Given the description of an element on the screen output the (x, y) to click on. 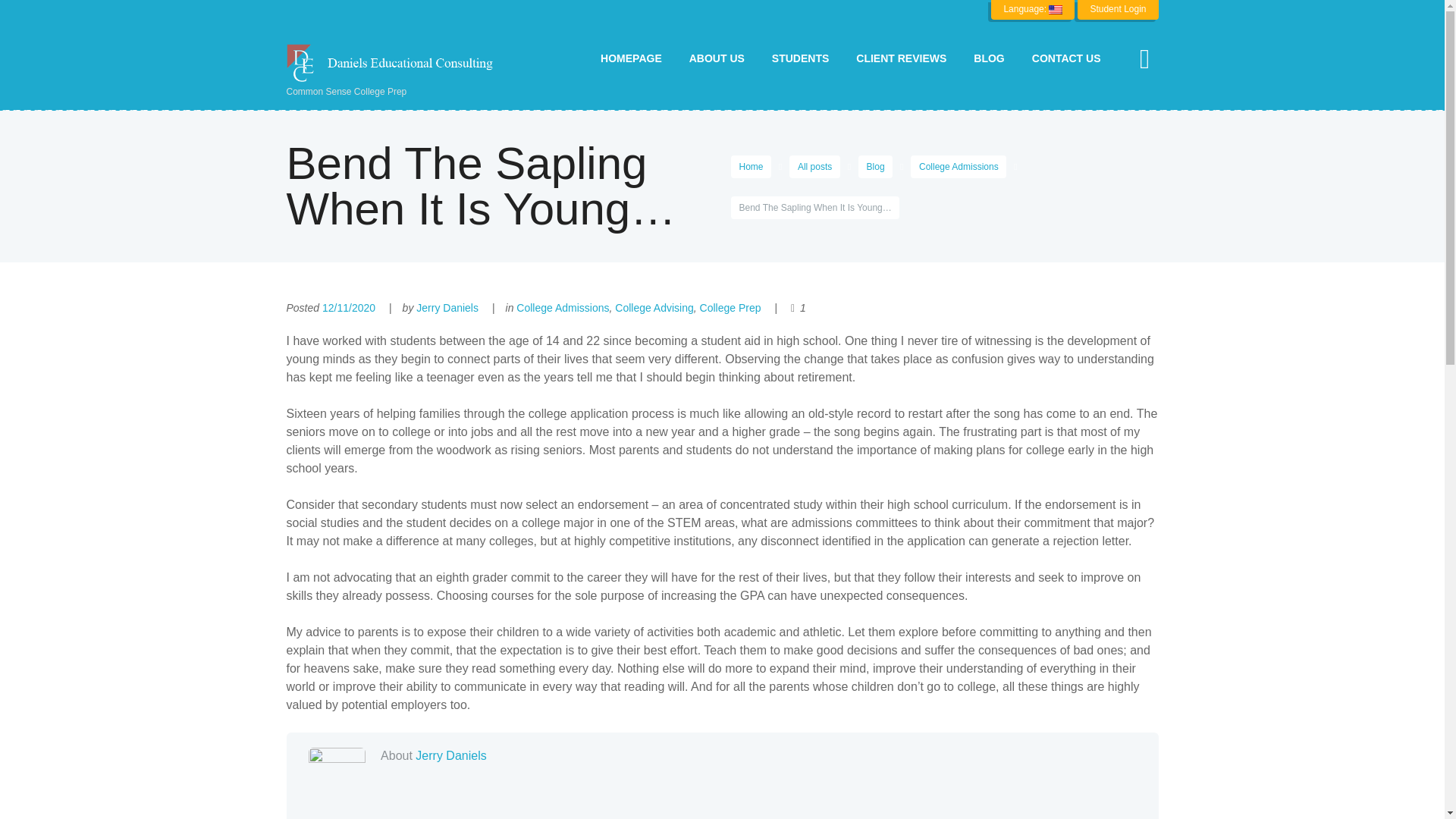
Jerry Daniels (447, 307)
STUDENTS (800, 58)
English (1032, 9)
College Prep (730, 307)
CONTACT US (1066, 58)
Home (750, 166)
CLIENT REVIEWS (901, 58)
Student Login (1117, 9)
College Admissions (958, 166)
BLOG (988, 58)
Common Sense College Prep (395, 71)
College Admissions (562, 307)
HOMEPAGE (631, 58)
ABOUT US (717, 58)
Language:  (1032, 9)
